Given the description of an element on the screen output the (x, y) to click on. 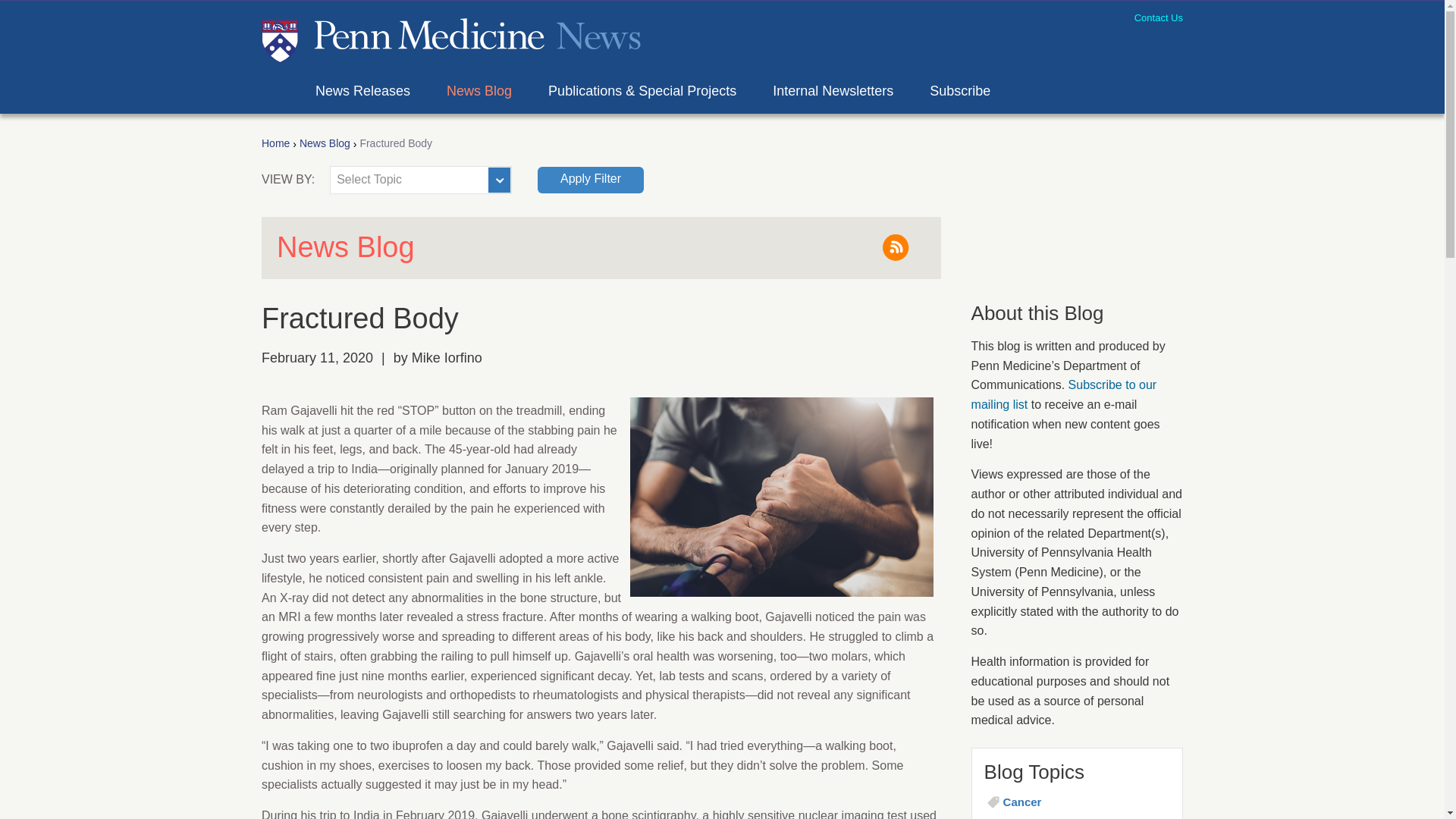
PR News home page (451, 38)
Subscribe to our mailing list (1064, 394)
Fractured Body (395, 143)
News Blog (324, 143)
Home (275, 143)
PR News (451, 38)
Cancer (1086, 802)
Apply Filter (590, 180)
